Given the description of an element on the screen output the (x, y) to click on. 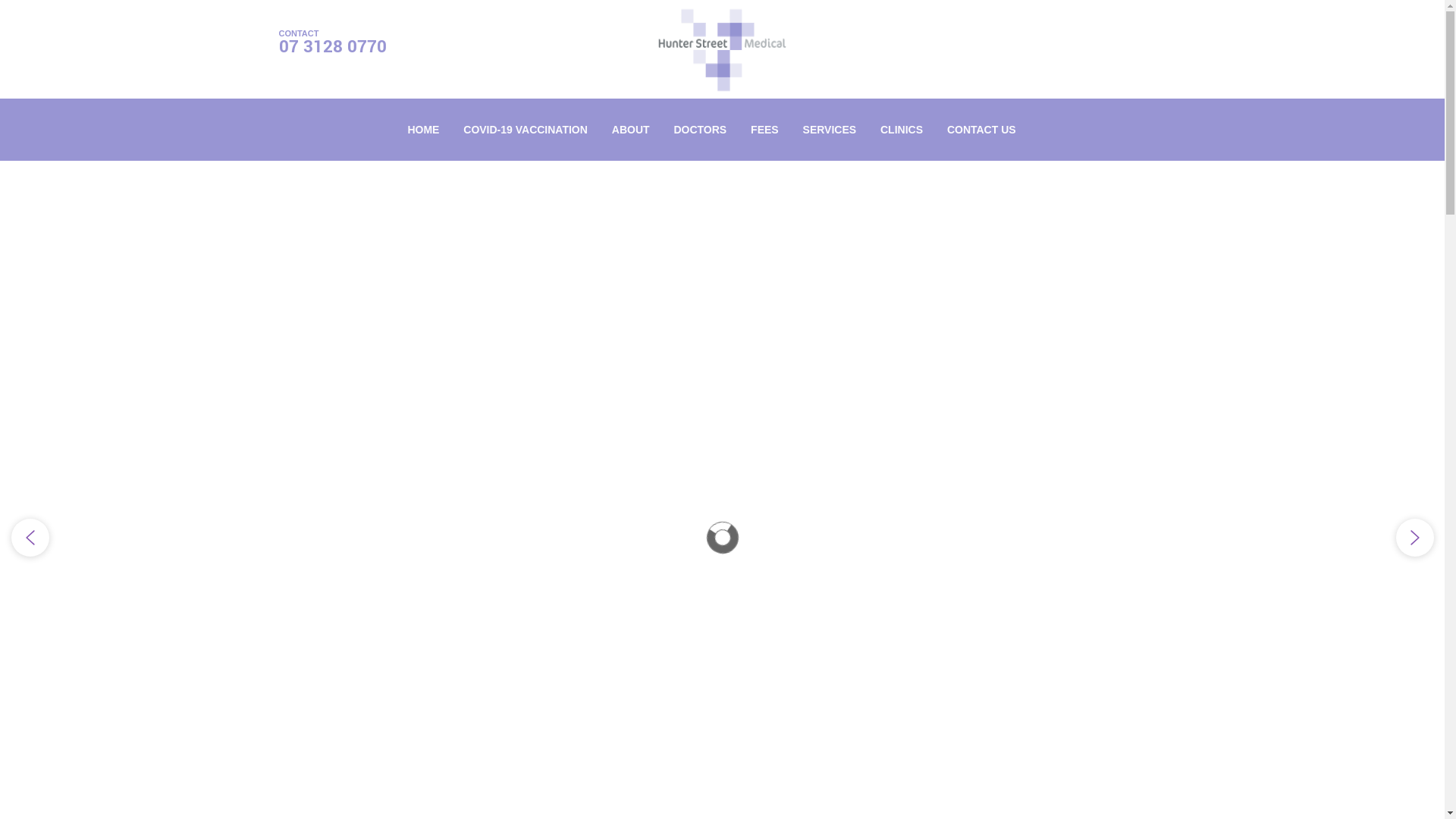
DOCTORS Element type: text (699, 129)
COVID-19 VACCINATION Element type: text (525, 129)
HOME Element type: text (423, 129)
SERVICES Element type: text (829, 129)
ABOUT Element type: text (630, 129)
CLINICS Element type: text (901, 129)
FEES Element type: text (764, 129)
CONTACT US Element type: text (981, 129)
